Given the description of an element on the screen output the (x, y) to click on. 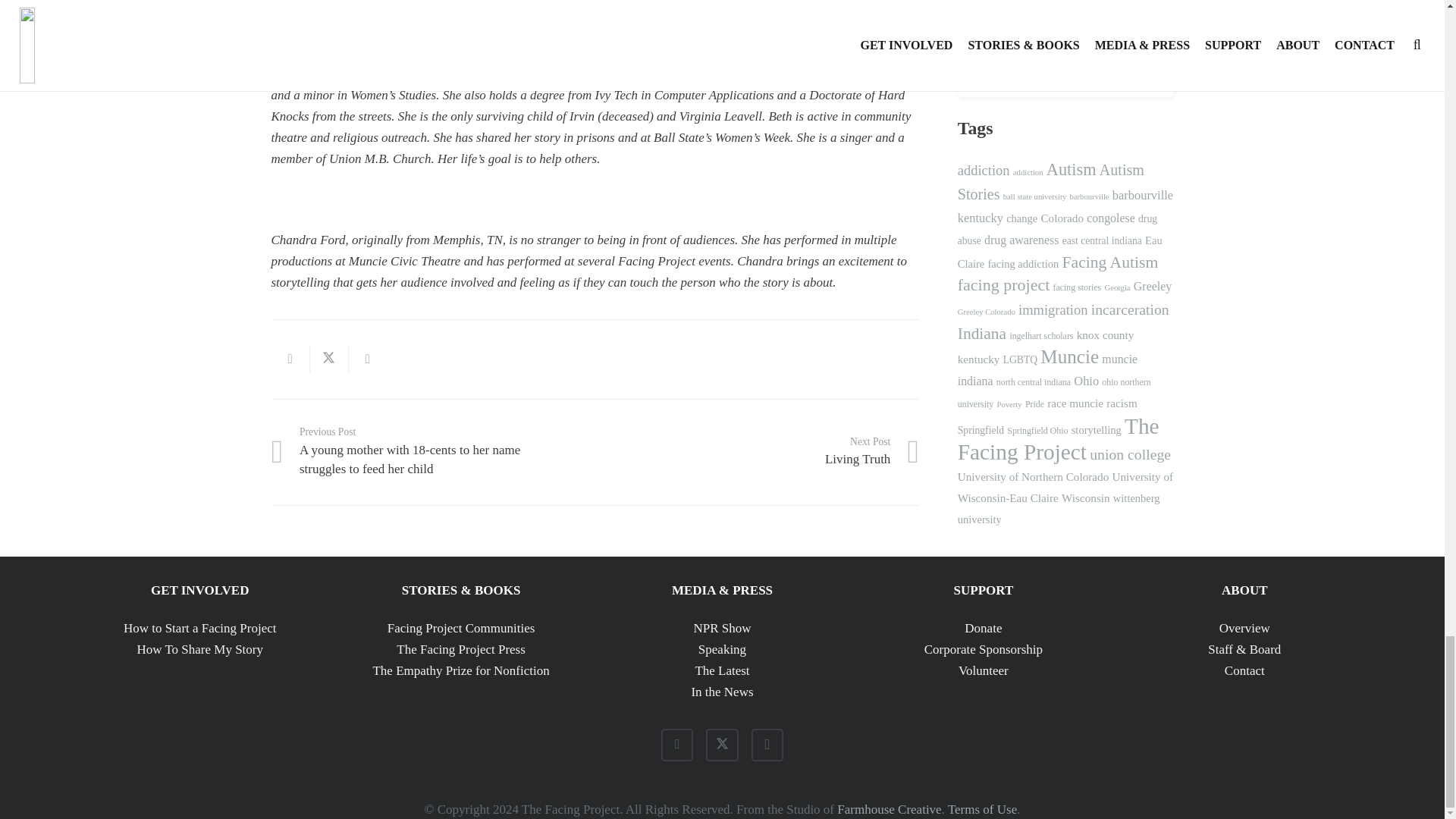
Speaking (721, 649)
How To Share My Story (199, 649)
How to Start a Facing Project (199, 627)
Living Truth (756, 451)
Facing Project Communities (461, 627)
Share this (756, 451)
The Facing Project Press (290, 359)
NPR Podcast (460, 649)
Share this (722, 627)
News (368, 359)
THE EMPATHY PRIZE FOR NONFICTION (721, 670)
Tweet this (460, 670)
